Given the description of an element on the screen output the (x, y) to click on. 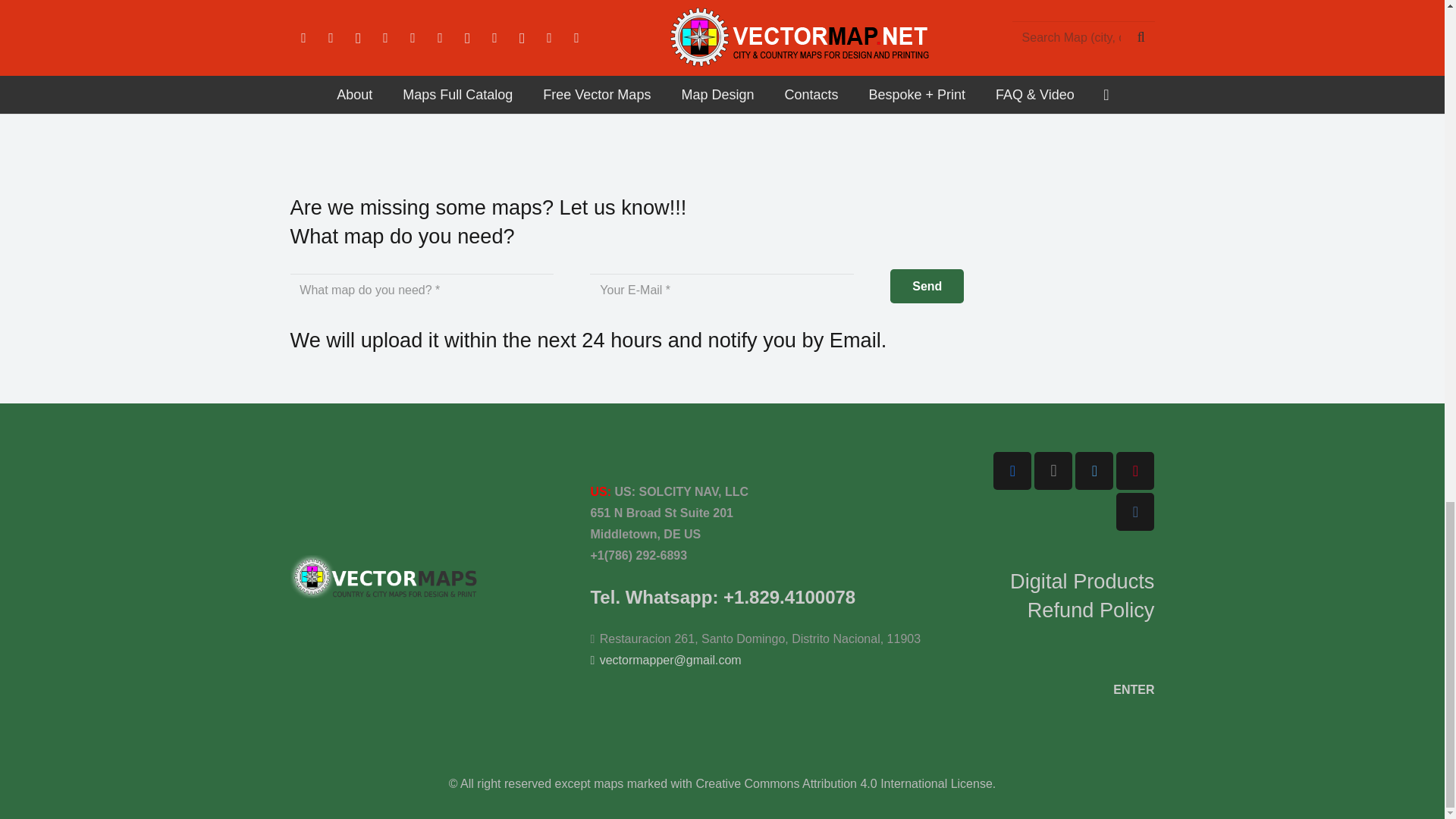
Send (926, 286)
